Given the description of an element on the screen output the (x, y) to click on. 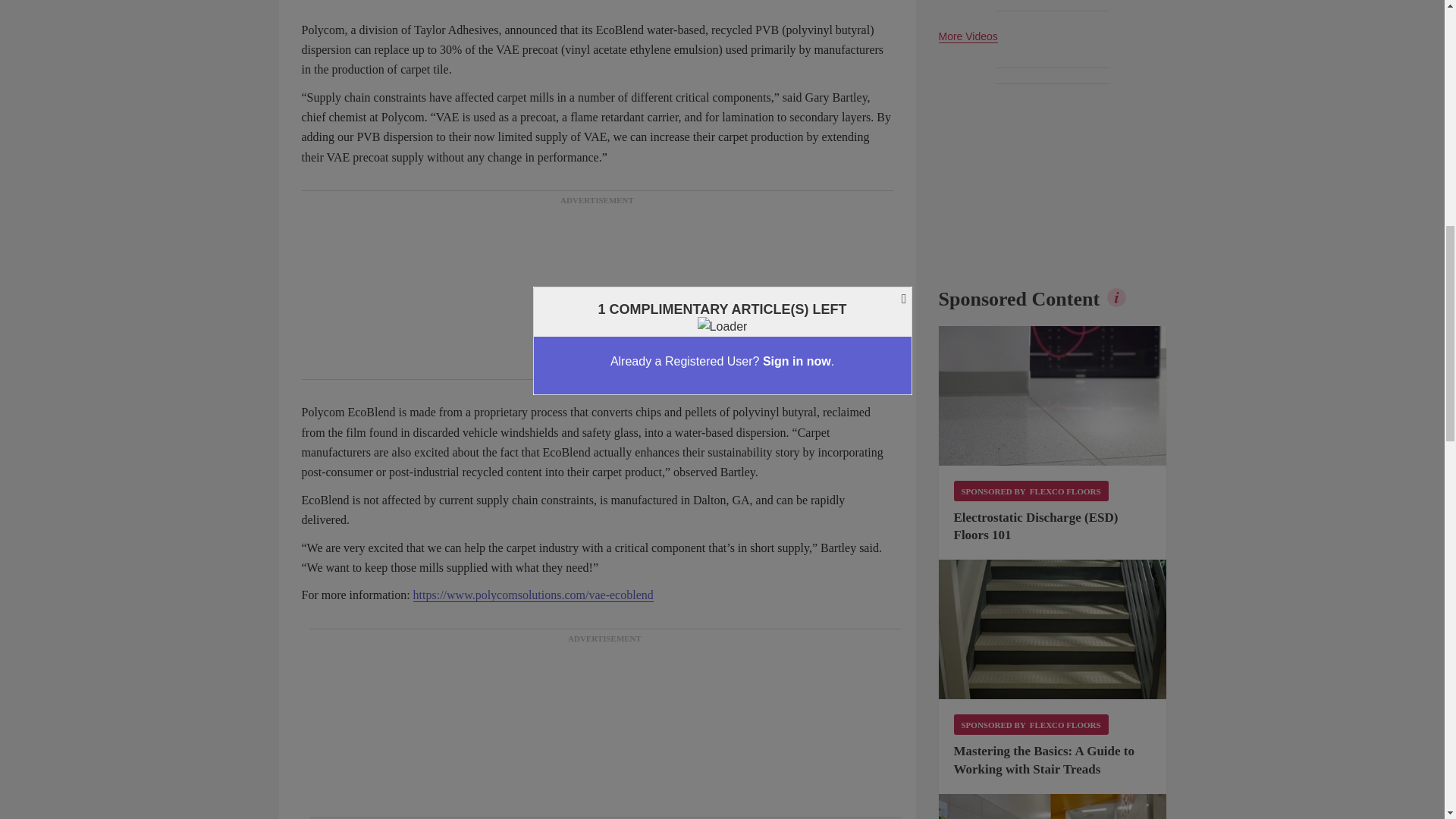
Sponsored by Flexco Floors (1030, 724)
Sponsored by Flexco Floors (1030, 490)
rubber flooring (1052, 806)
ESD flooring (1052, 395)
stair treads (1052, 629)
